Given the description of an element on the screen output the (x, y) to click on. 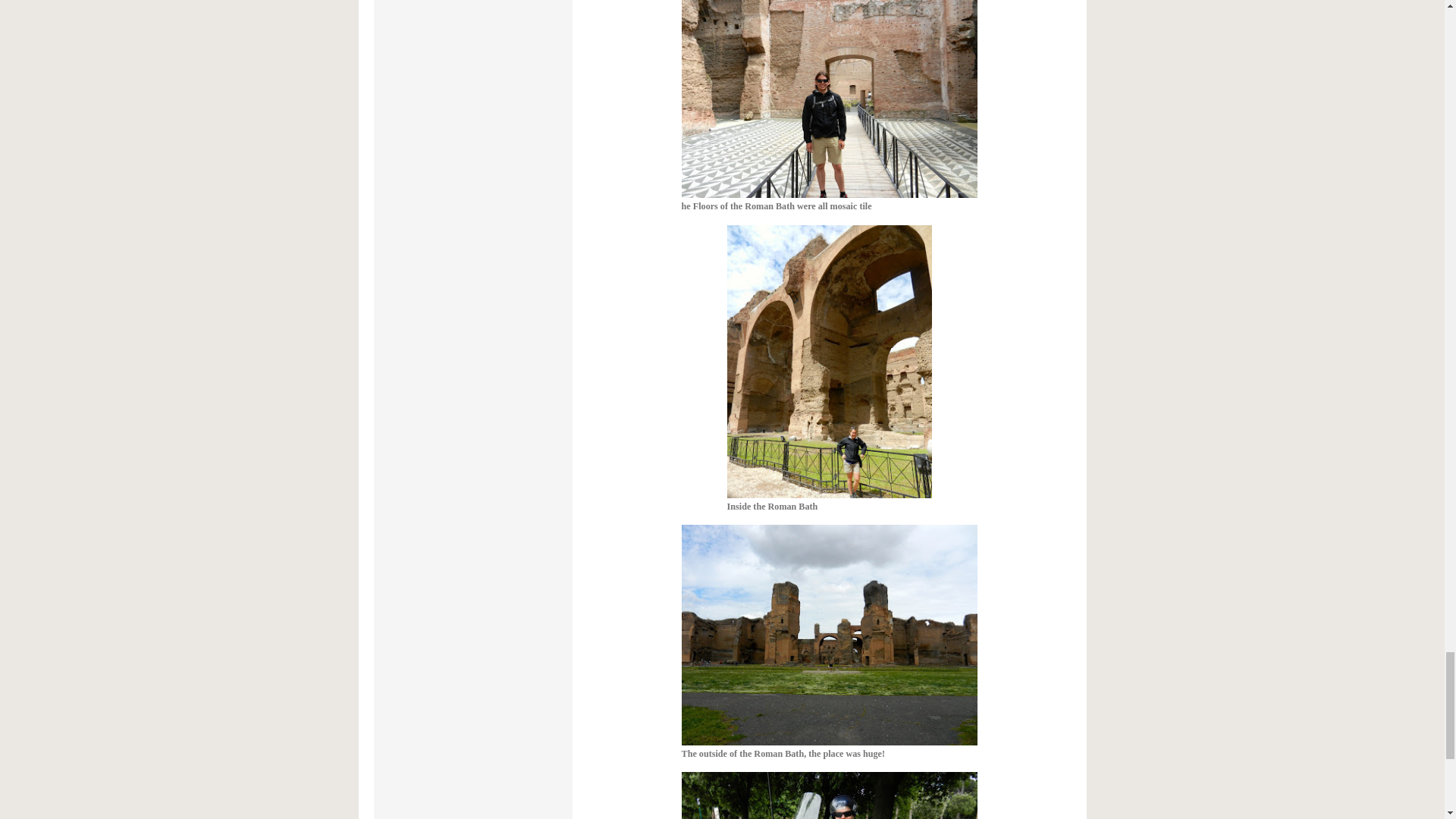
he Floors of the Roman Bath were all mosaic tile (828, 105)
